Given the description of an element on the screen output the (x, y) to click on. 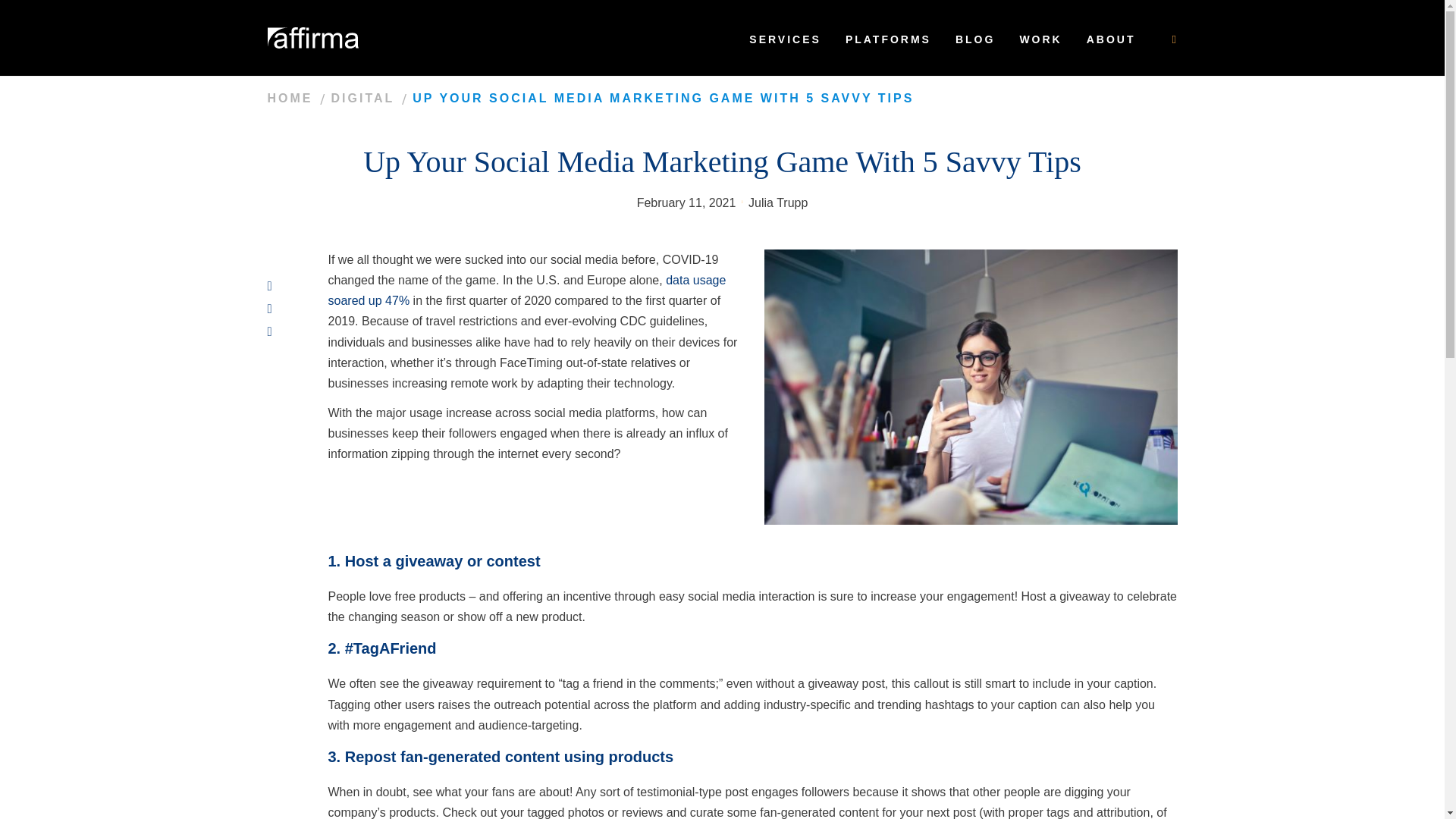
PLATFORMS (887, 38)
Up Your Social Media Marketing Game With 5 Savvy Tips (663, 98)
Up Your Social Media Marketing Game With 5 Savvy Tips (368, 98)
SERVICES (784, 38)
